Given the description of an element on the screen output the (x, y) to click on. 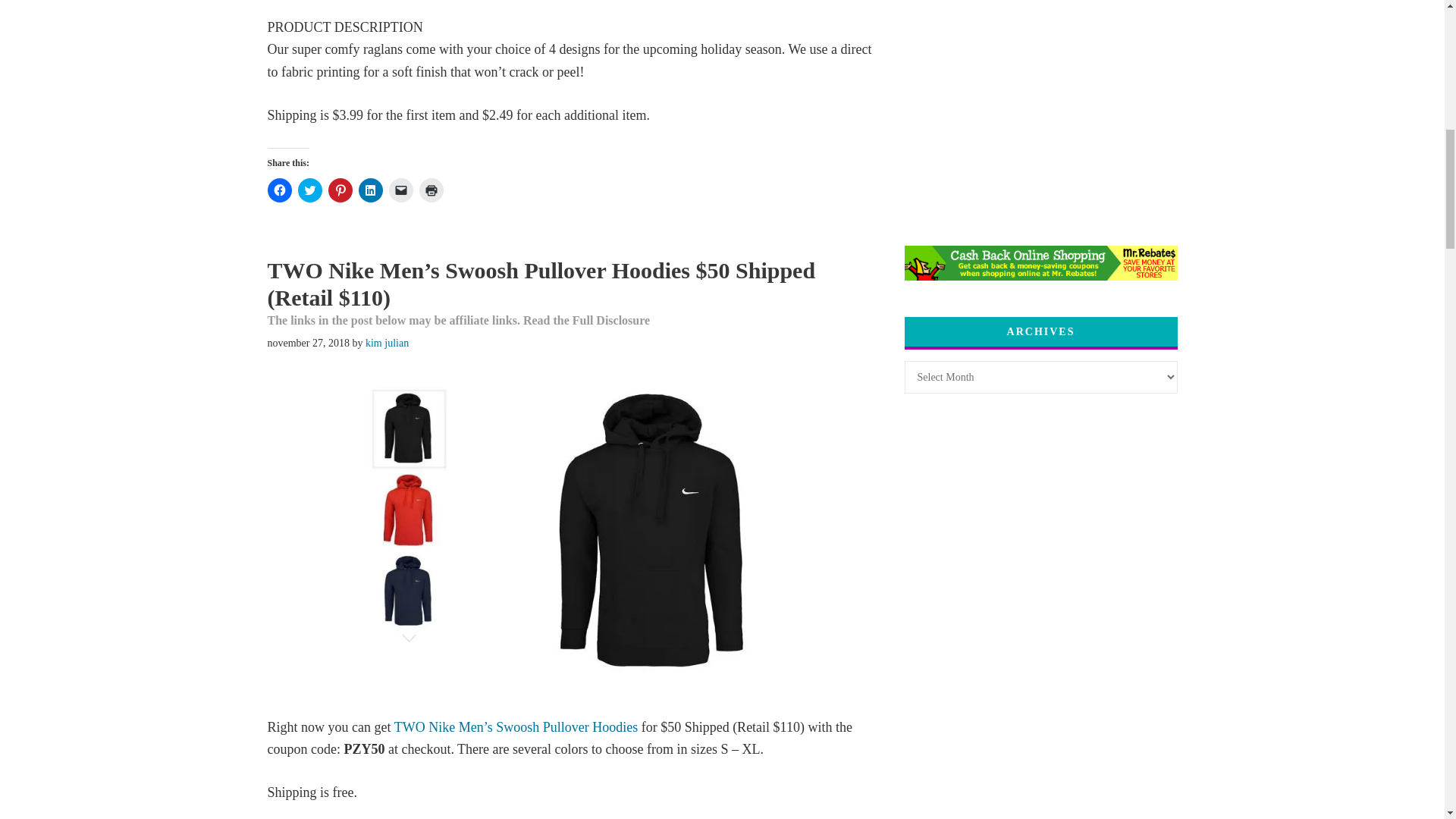
Click to share on Facebook (278, 190)
Click to share on Twitter (309, 190)
Click to email a link to a friend (400, 190)
Click to share on LinkedIn (369, 190)
Click to share on Pinterest (339, 190)
Click to print (430, 190)
